Given the description of an element on the screen output the (x, y) to click on. 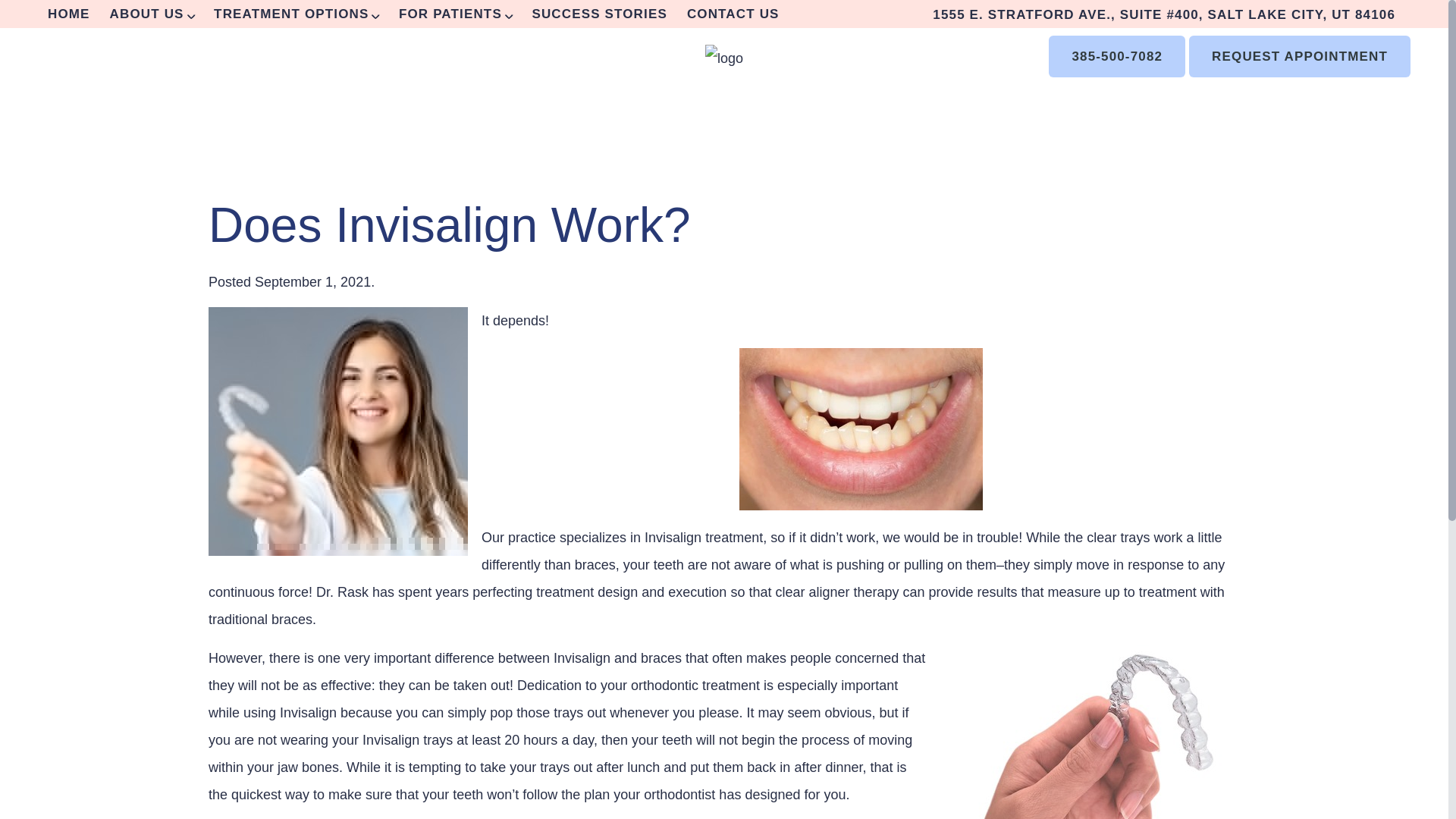
HOME (68, 13)
ABOUT US (151, 13)
